Given the description of an element on the screen output the (x, y) to click on. 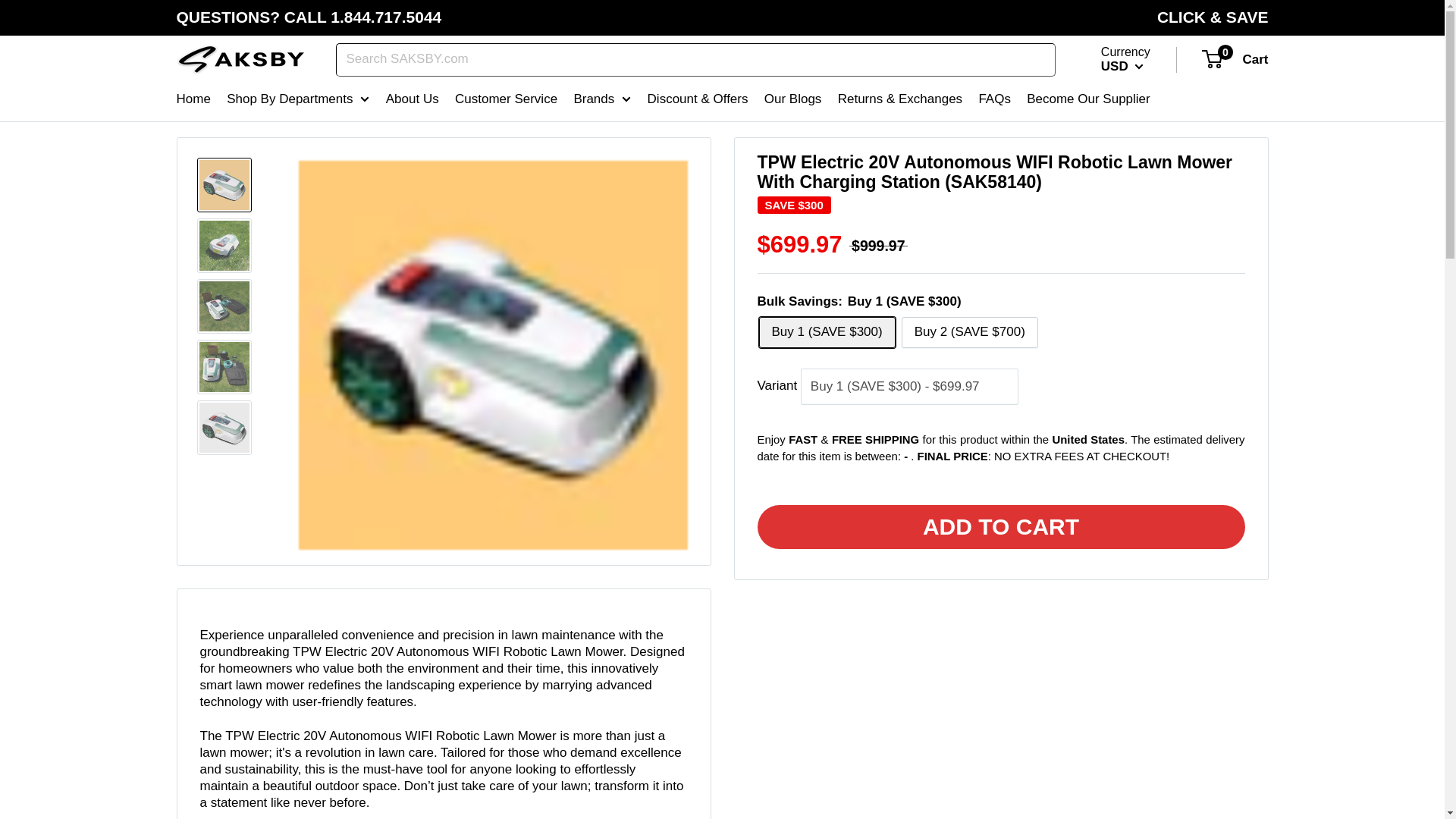
QUESTIONS? CALL 1.844.717.5044 (308, 17)
